Given the description of an element on the screen output the (x, y) to click on. 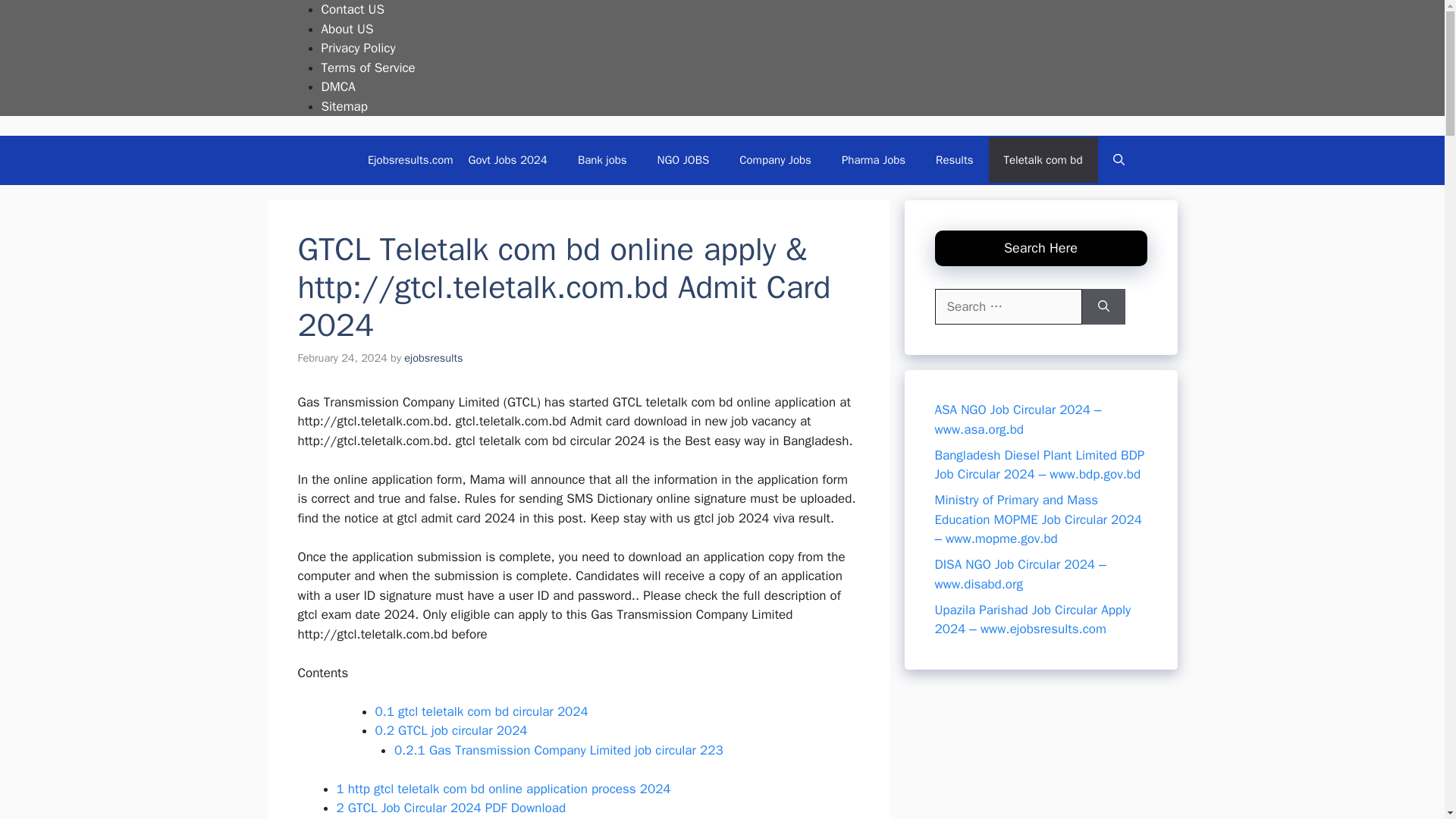
Ejobsresults.com (410, 159)
Results (954, 159)
About US (347, 28)
0.1 gtcl teletalk com bd circular 2024 (481, 711)
0.2.1 Gas Transmission Company Limited job circular 223 (558, 750)
Bank jobs (602, 159)
Sitemap (344, 106)
View all posts by ejobsresults (433, 357)
Govt Jobs 2024 (507, 159)
Privacy Policy (358, 48)
1 http gtcl teletalk com bd online application process 2024 (503, 788)
ejobsresults (433, 357)
0.2 GTCL job circular 2024 (450, 730)
Search for: (1007, 306)
Terms of Service (367, 66)
